Given the description of an element on the screen output the (x, y) to click on. 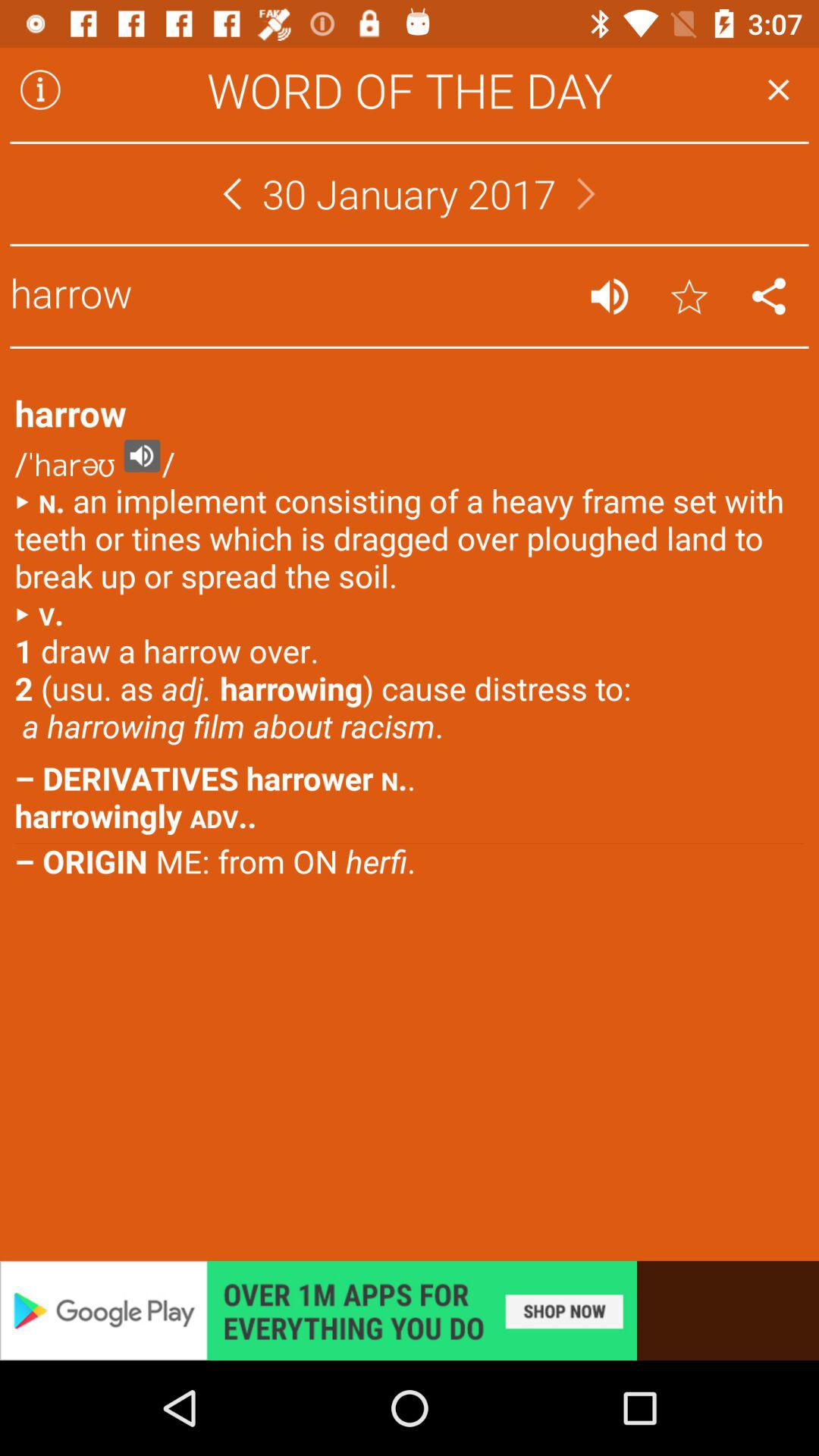
save as favorite (689, 296)
